Given the description of an element on the screen output the (x, y) to click on. 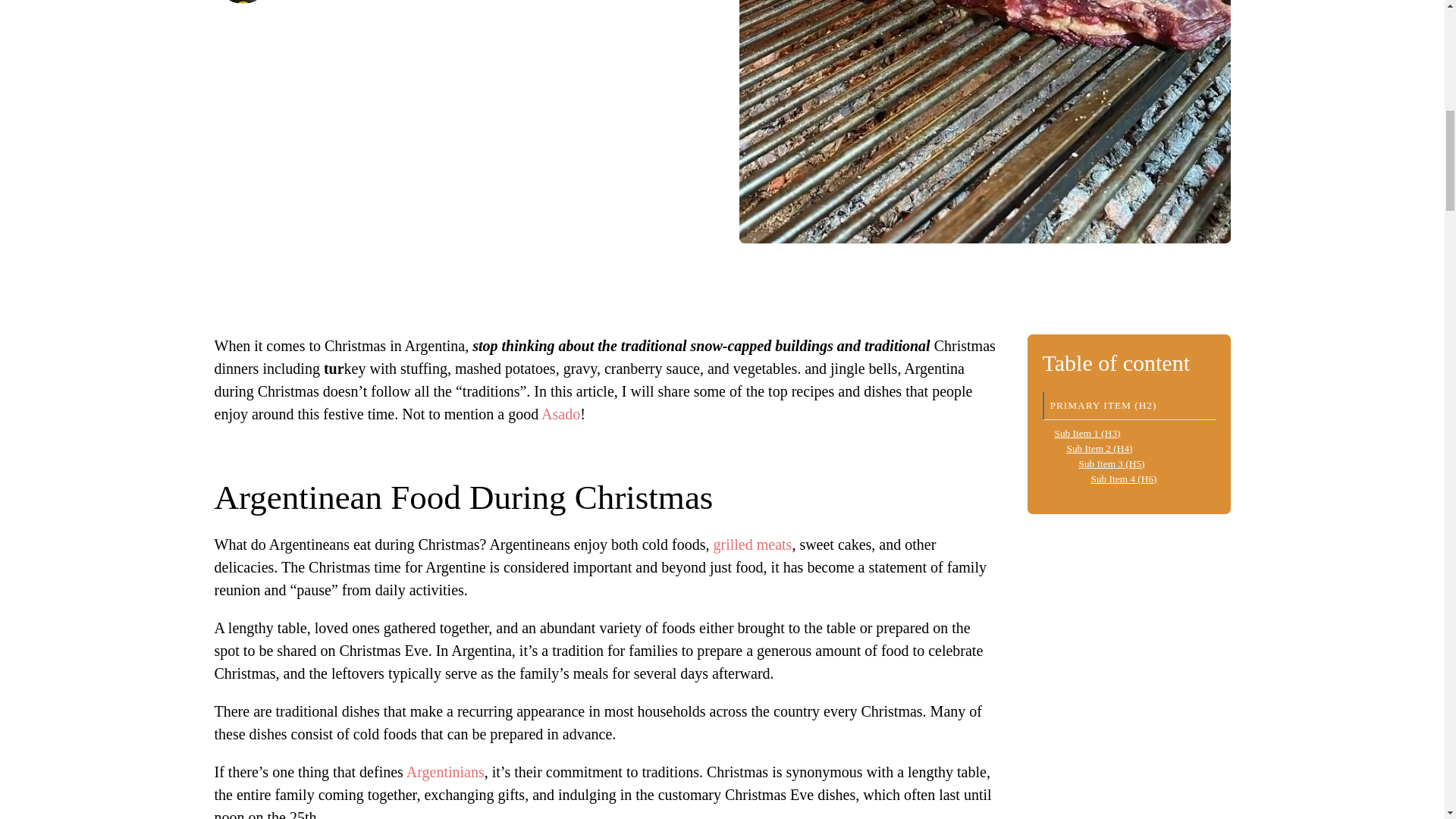
Argentinians (445, 771)
grilled meats (752, 544)
Asado (560, 413)
